Given the description of an element on the screen output the (x, y) to click on. 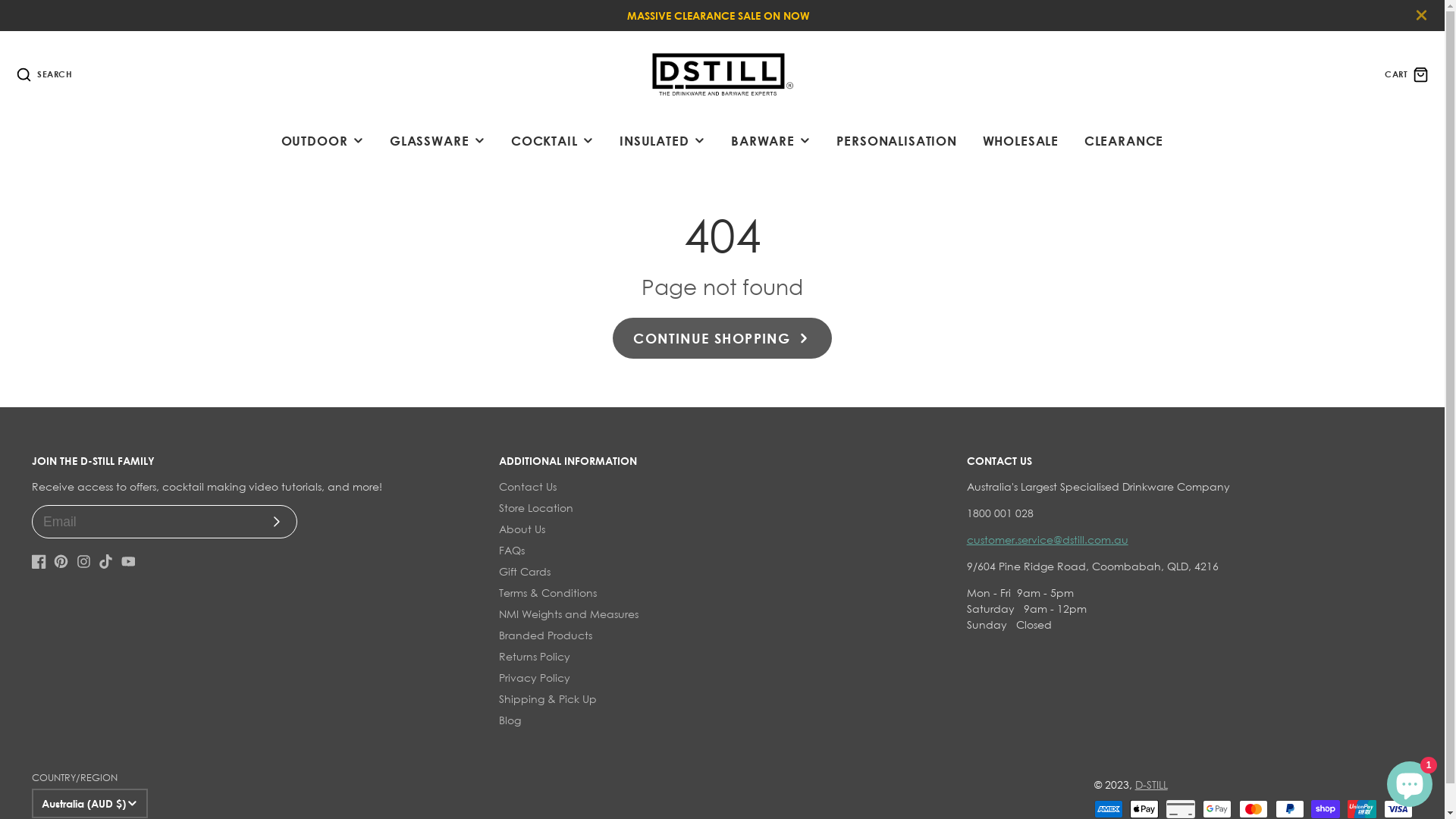
GLASSWARE Element type: text (437, 140)
YouTube Element type: text (128, 561)
CONTINUE SHOPPING Element type: text (721, 338)
Instagram Element type: text (83, 561)
Store Location Element type: text (535, 507)
Terms & Conditions Element type: text (547, 592)
Branded Products Element type: text (545, 634)
Shipping & Pick Up Element type: text (547, 698)
FAQs Element type: text (511, 549)
Australia (AUD $) Element type: text (89, 803)
CART Element type: text (1406, 74)
Facebook Element type: text (38, 561)
WHOLESALE Element type: text (1020, 140)
Privacy Policy Element type: text (534, 677)
Subscribe Element type: text (276, 521)
CLEARANCE Element type: text (1123, 140)
INSULATED Element type: text (662, 140)
Blog Element type: text (509, 719)
D-STILL Element type: text (1151, 784)
PERSONALISATION Element type: text (896, 140)
SEARCH Element type: text (43, 74)
customer.service@dstill.com.au Element type: text (1047, 539)
OUTDOOR Element type: text (322, 140)
TikTok Element type: text (105, 561)
Contact Us Element type: text (527, 486)
Gift Cards Element type: text (524, 570)
Shopify online store chat Element type: hover (1409, 780)
Pinterest Element type: text (60, 561)
COCKTAIL Element type: text (552, 140)
About Us Element type: text (521, 528)
BARWARE Element type: text (770, 140)
Returns Policy Element type: text (534, 655)
NMI Weights and Measures Element type: text (568, 613)
